Given the description of an element on the screen output the (x, y) to click on. 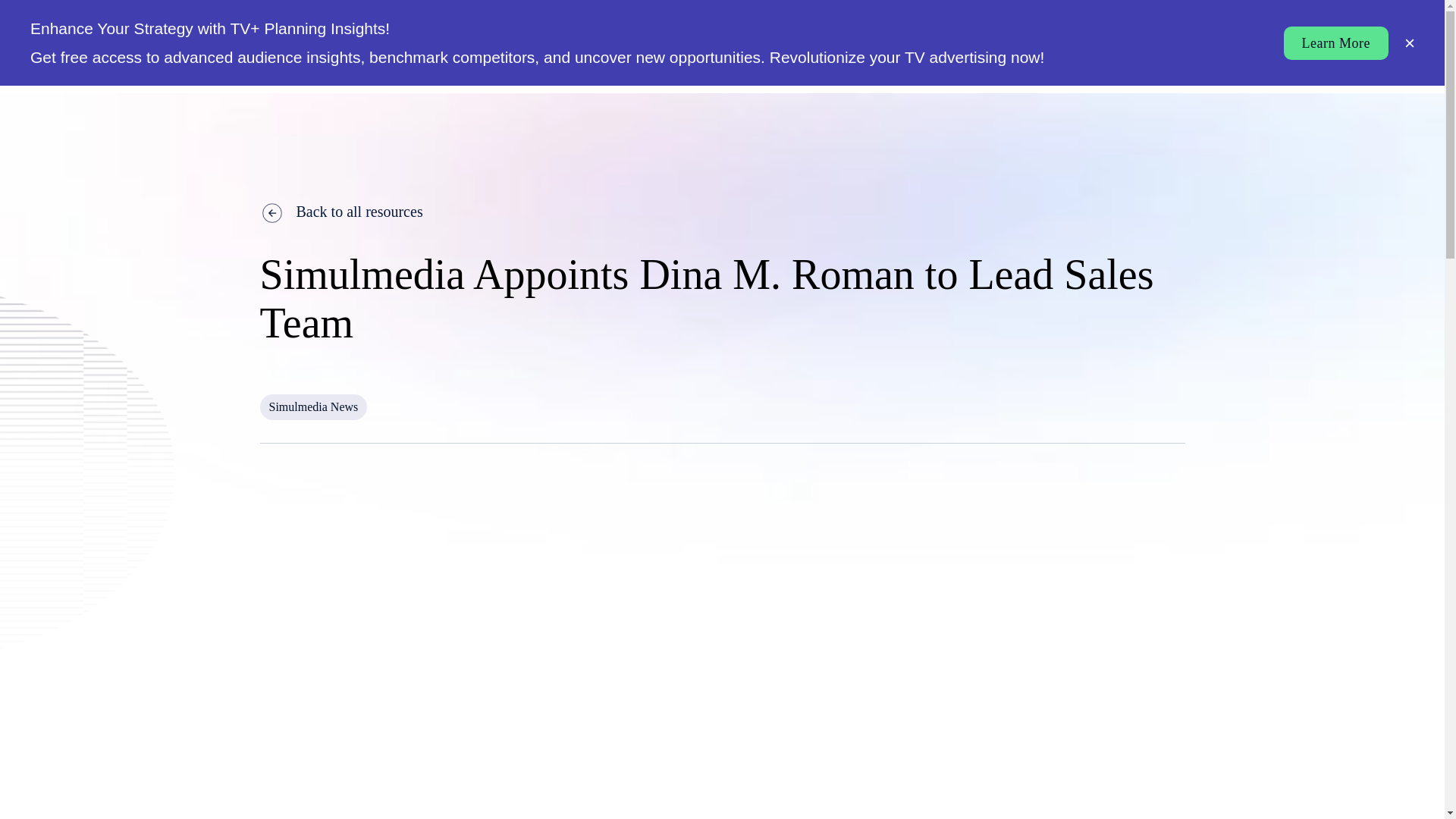
Learn More (1336, 42)
Back to all resources (722, 211)
Simulmedia News (312, 406)
